Given the description of an element on the screen output the (x, y) to click on. 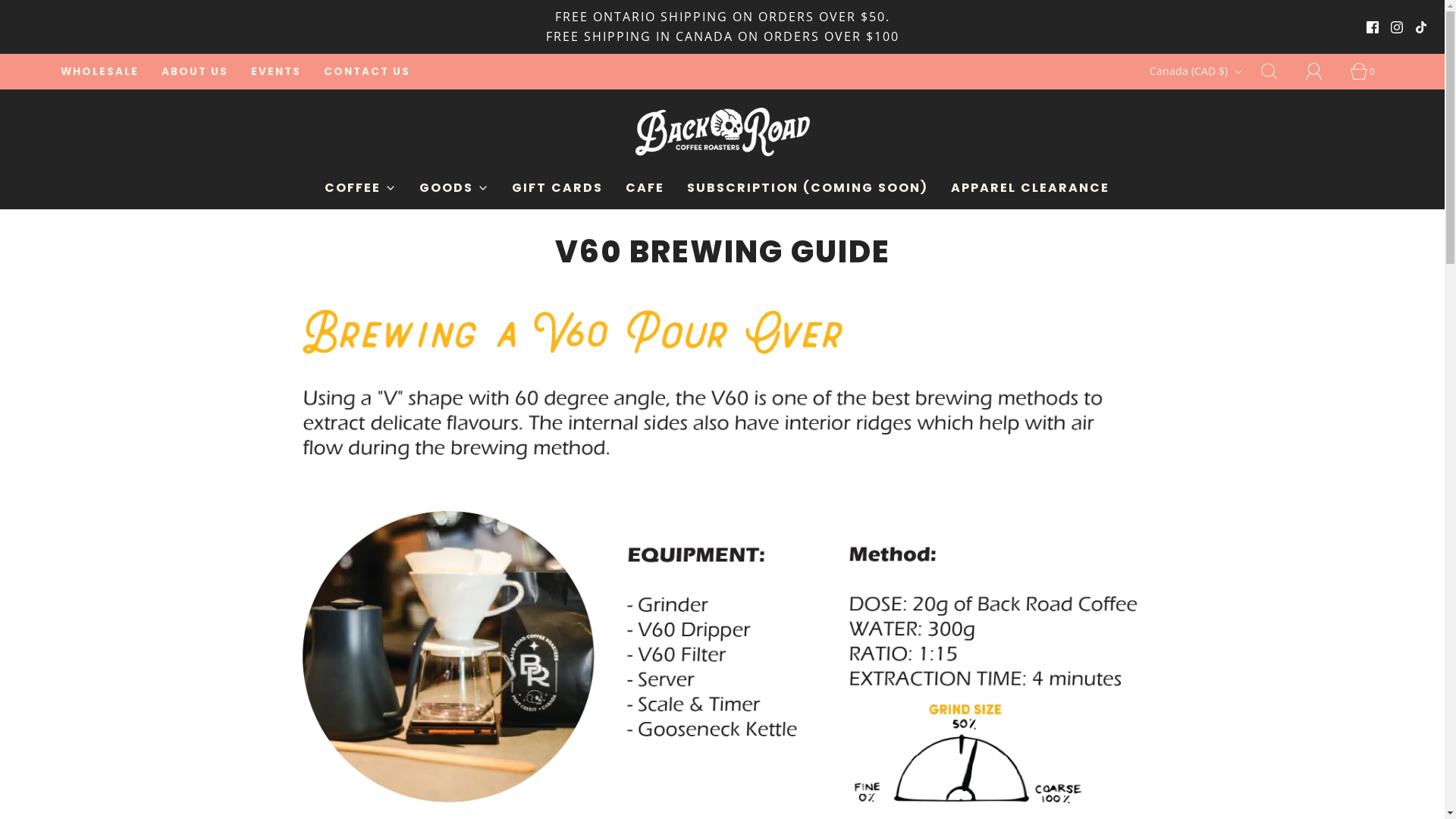
WHOLESALE Element type: text (99, 71)
Search Element type: hover (1277, 70)
INSTAGRAM ICON Element type: text (1396, 27)
SUBSCRIPTION (COMING SOON) Element type: text (807, 187)
TIKTOK ICON Element type: text (1421, 27)
Log in Element type: hover (1322, 70)
Canada (CAD $) Element type: text (1197, 70)
CAFE Element type: text (643, 187)
APPAREL CLEARANCE Element type: text (1029, 187)
EVENTS Element type: text (276, 71)
0 Element type: text (1366, 70)
GOODS Element type: text (453, 187)
GIFT CARDS Element type: text (556, 187)
COFFEE Element type: text (360, 187)
FACEBOOK ICON Element type: text (1372, 27)
ABOUT US Element type: text (194, 71)
CONTACT US Element type: text (366, 71)
